Given the description of an element on the screen output the (x, y) to click on. 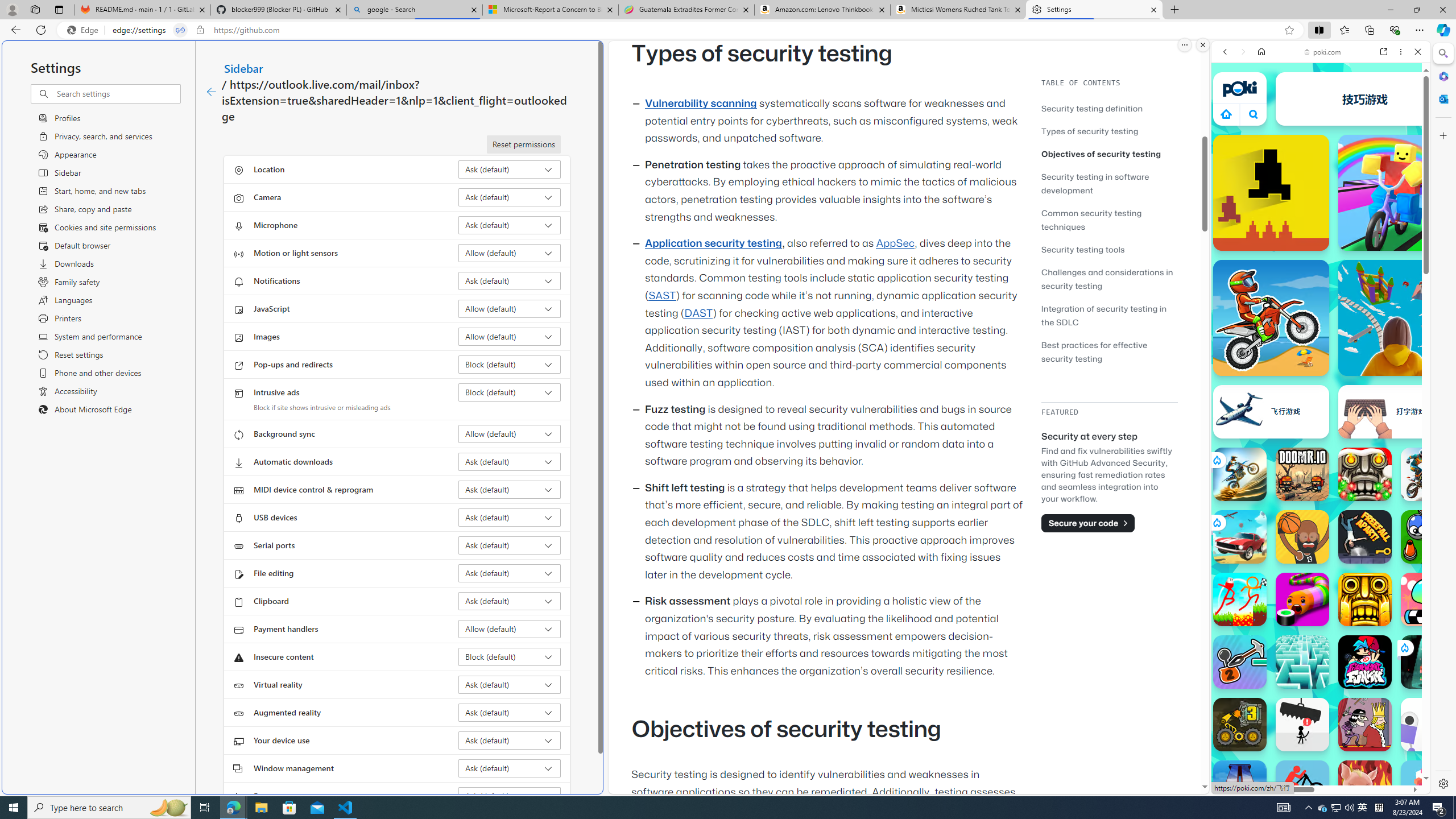
Combat Reloaded (1349, 523)
USB devices Ask (default) (509, 517)
File editing Ask (default) (509, 573)
Hills of Steel (1264, 523)
Application security testing (713, 243)
Crazy Cars (1419, 574)
AppSec (895, 243)
Hills of Steel (1253, 574)
Car Games (1320, 267)
Your device use Ask (default) (509, 740)
SimplyUp.io (1396, 317)
